Given the description of an element on the screen output the (x, y) to click on. 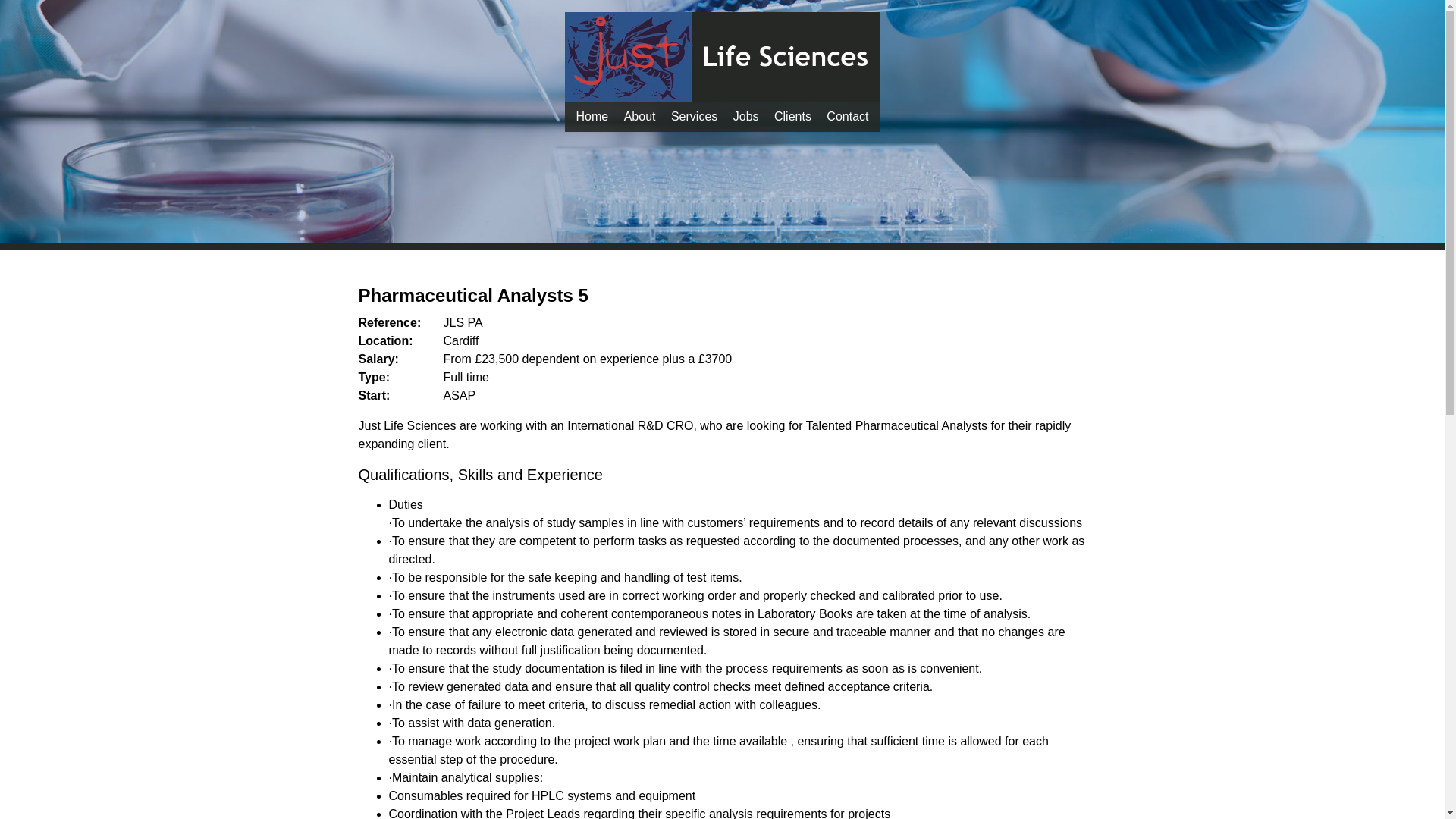
About (639, 116)
Services (694, 116)
Jobs (745, 116)
Clients (792, 116)
Home (592, 116)
Just Life Sciences (592, 116)
Contact (848, 116)
